Given the description of an element on the screen output the (x, y) to click on. 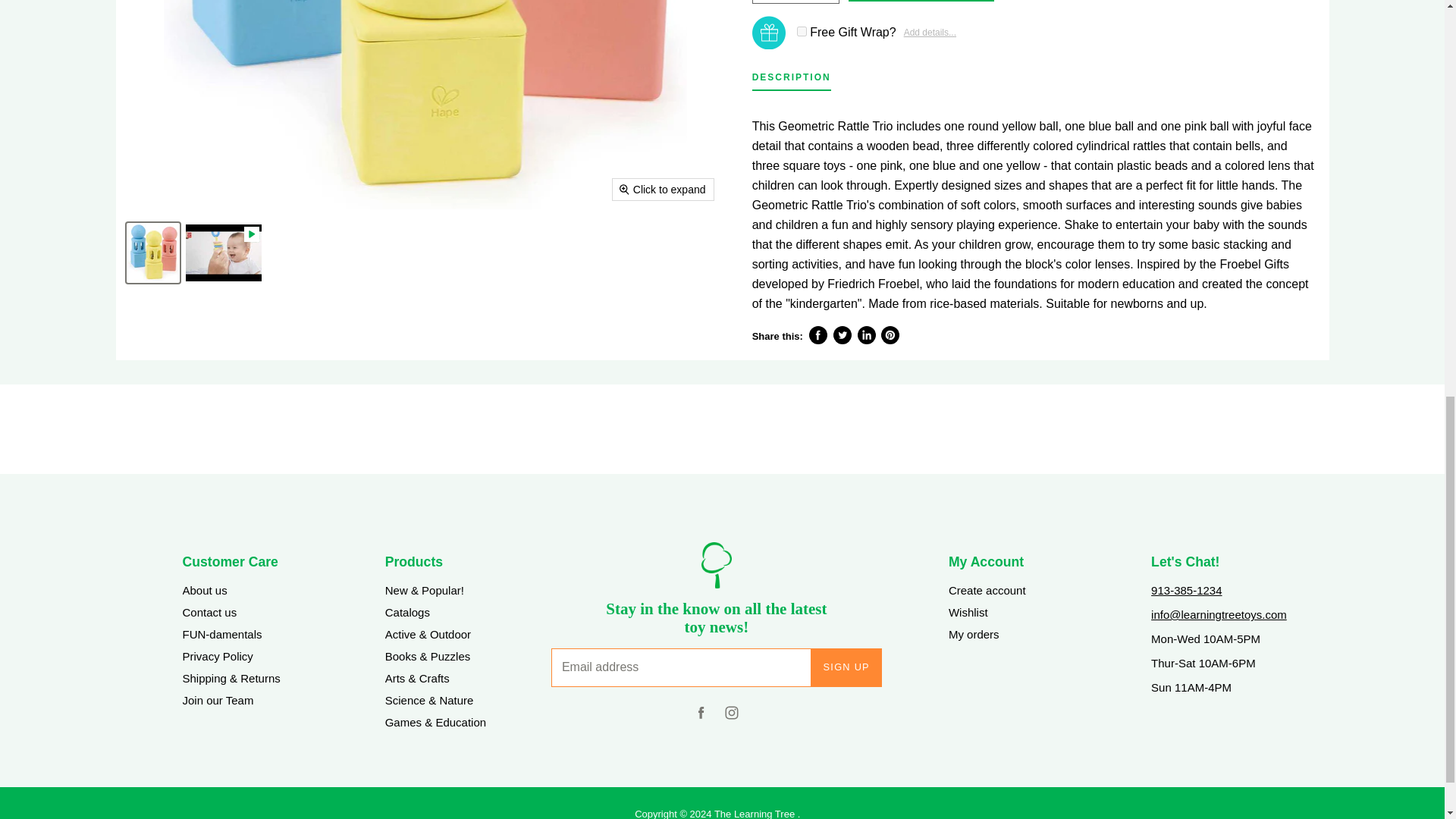
Facebook (700, 715)
on (801, 31)
tel:9133851234 (1186, 590)
Instagram (731, 715)
